Given the description of an element on the screen output the (x, y) to click on. 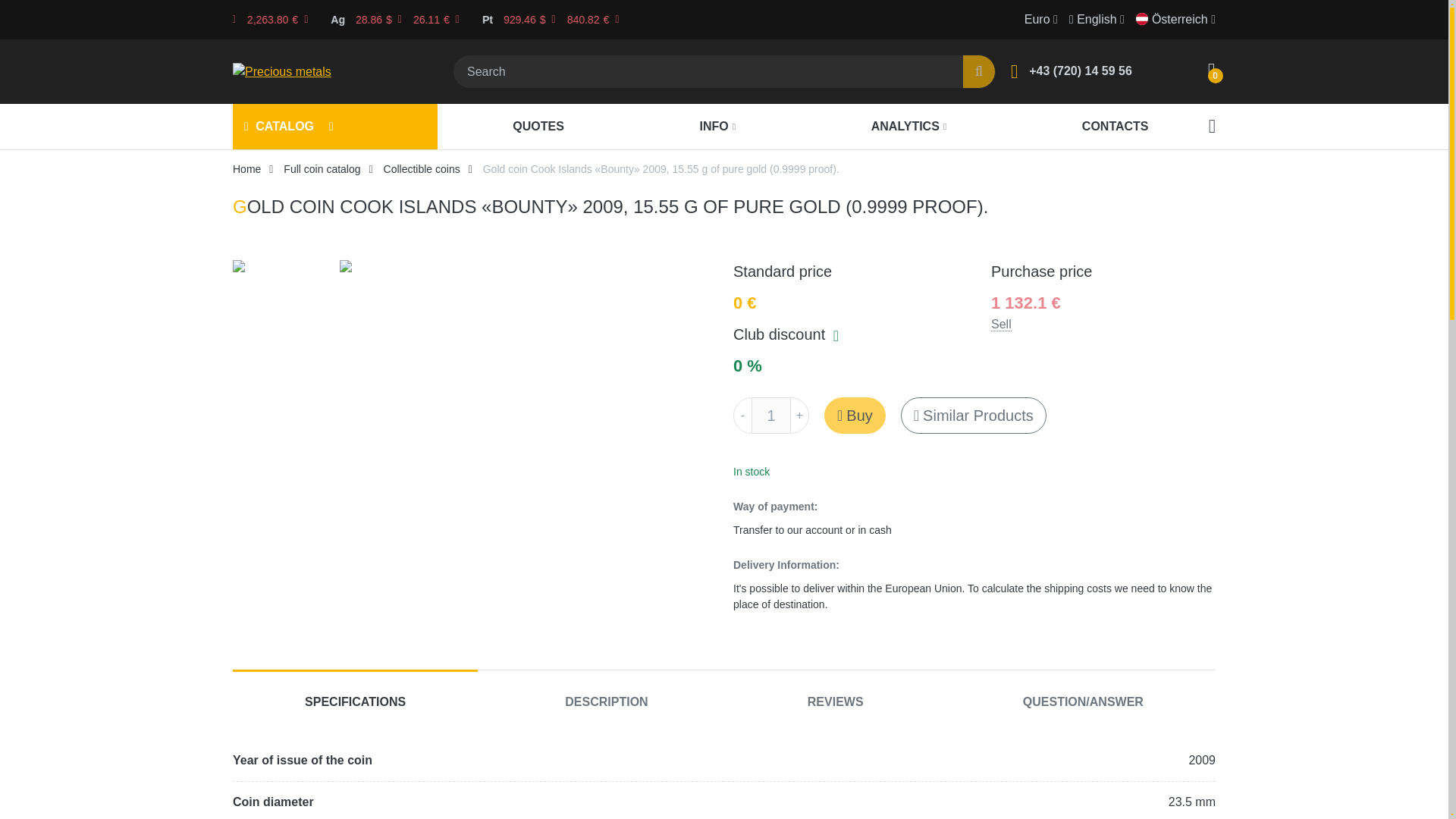
Full coin catalog (321, 168)
CATALOG (278, 126)
Collectible coins (422, 168)
Home (246, 168)
1 (771, 415)
